Given the description of an element on the screen output the (x, y) to click on. 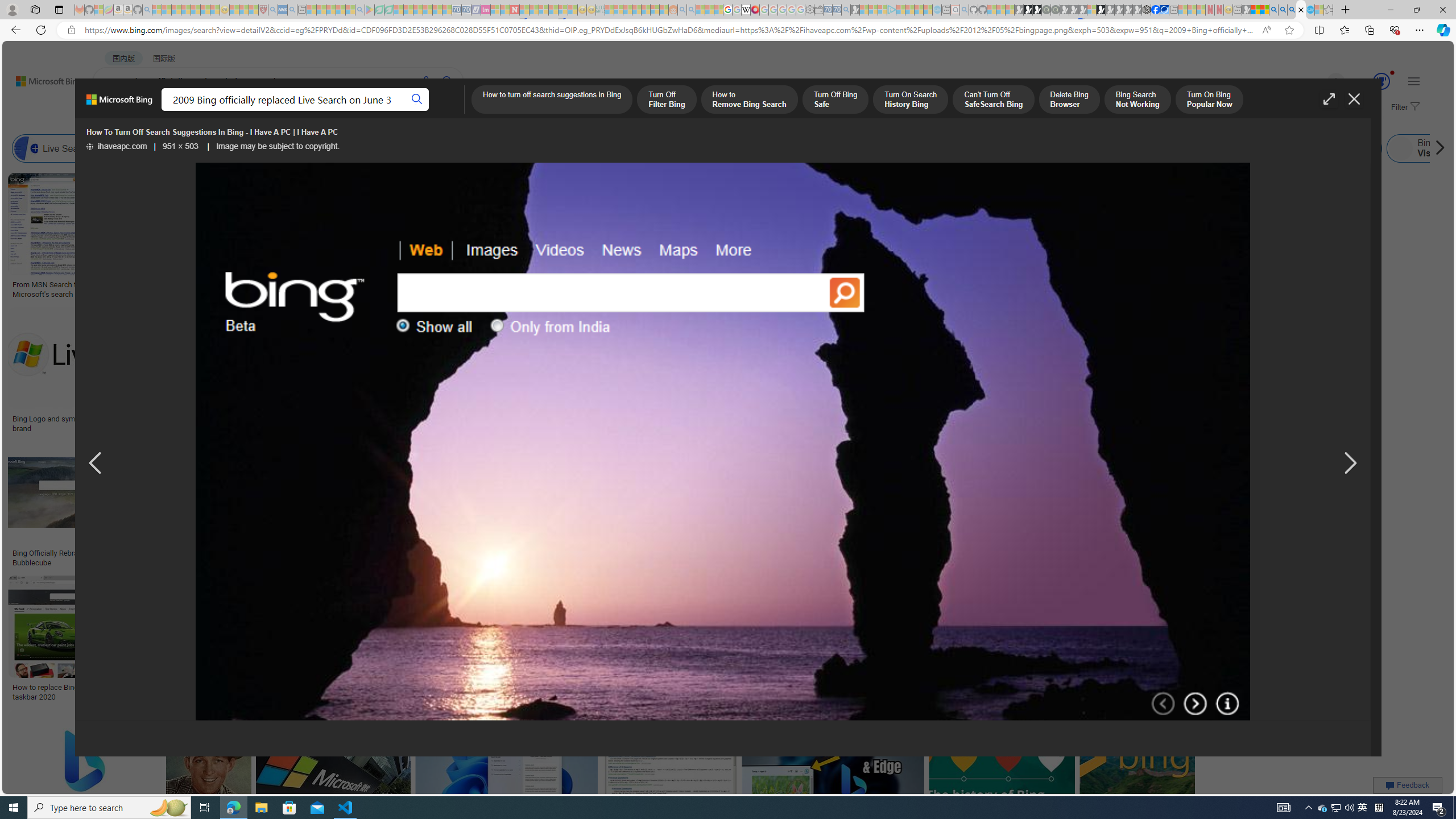
Bing Logo, symbol, meaning, history, PNG, brand (1124, 289)
MSN - Sleeping (1246, 9)
DICT (407, 111)
